Given the description of an element on the screen output the (x, y) to click on. 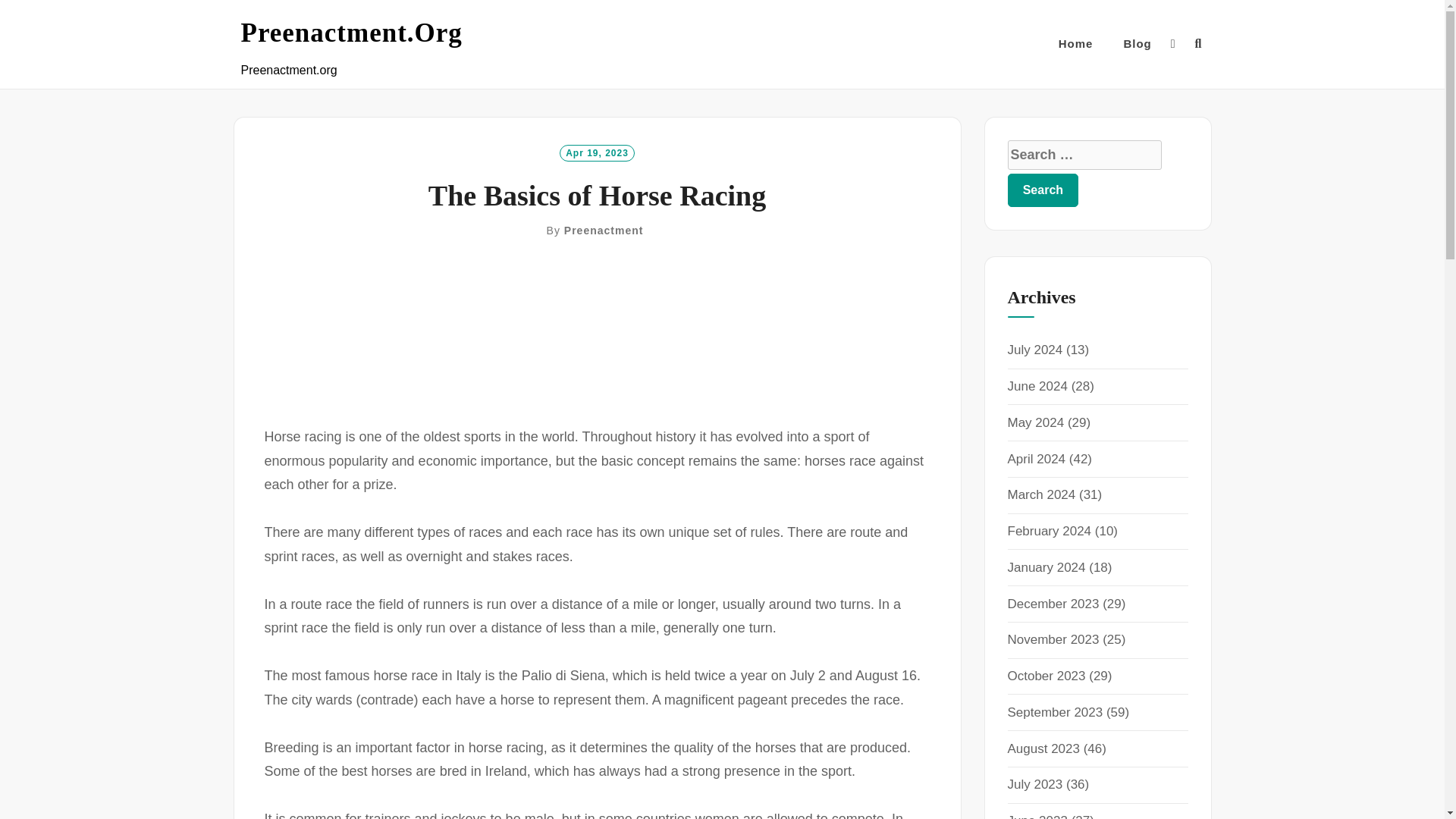
March 2024 (1041, 494)
January 2024 (1045, 567)
June 2024 (1037, 386)
November 2023 (1053, 639)
October 2023 (1045, 676)
Search (1042, 190)
August 2023 (1042, 748)
Preenactment.Org (352, 33)
Preenactment (603, 230)
December 2023 (1053, 603)
July 2023 (1034, 784)
Home (1075, 44)
Apr 19, 2023 (596, 152)
September 2023 (1054, 712)
Search (1042, 190)
